Given the description of an element on the screen output the (x, y) to click on. 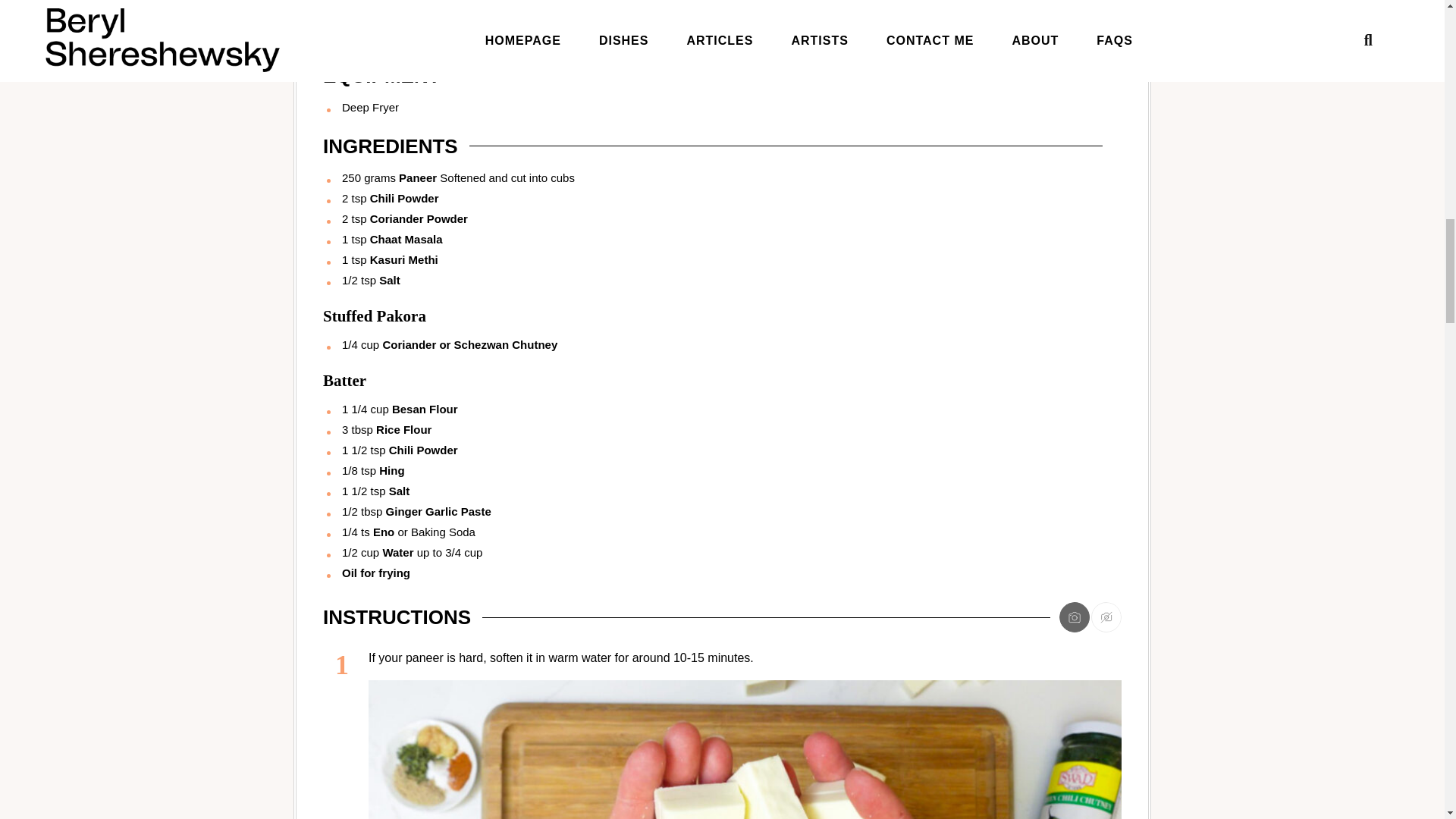
PRINT RECIPE (388, 24)
PIN RECIPE (520, 24)
